Given the description of an element on the screen output the (x, y) to click on. 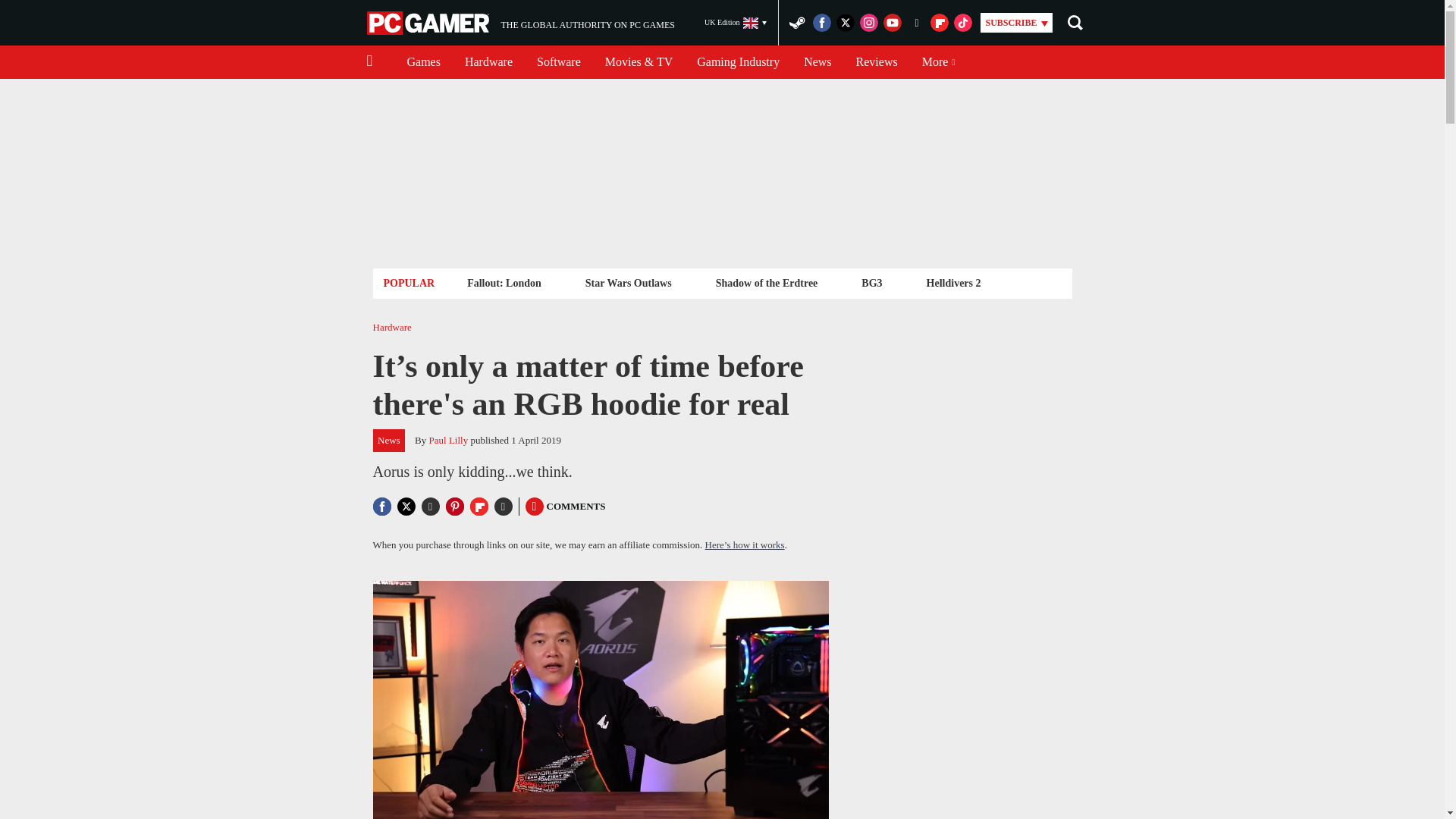
UK Edition (735, 22)
News (817, 61)
Gaming Industry (738, 61)
Star Wars Outlaws (628, 282)
Software (558, 61)
Fallout: London (504, 282)
Reviews (877, 61)
Hardware (520, 22)
PC Gamer (488, 61)
